Given the description of an element on the screen output the (x, y) to click on. 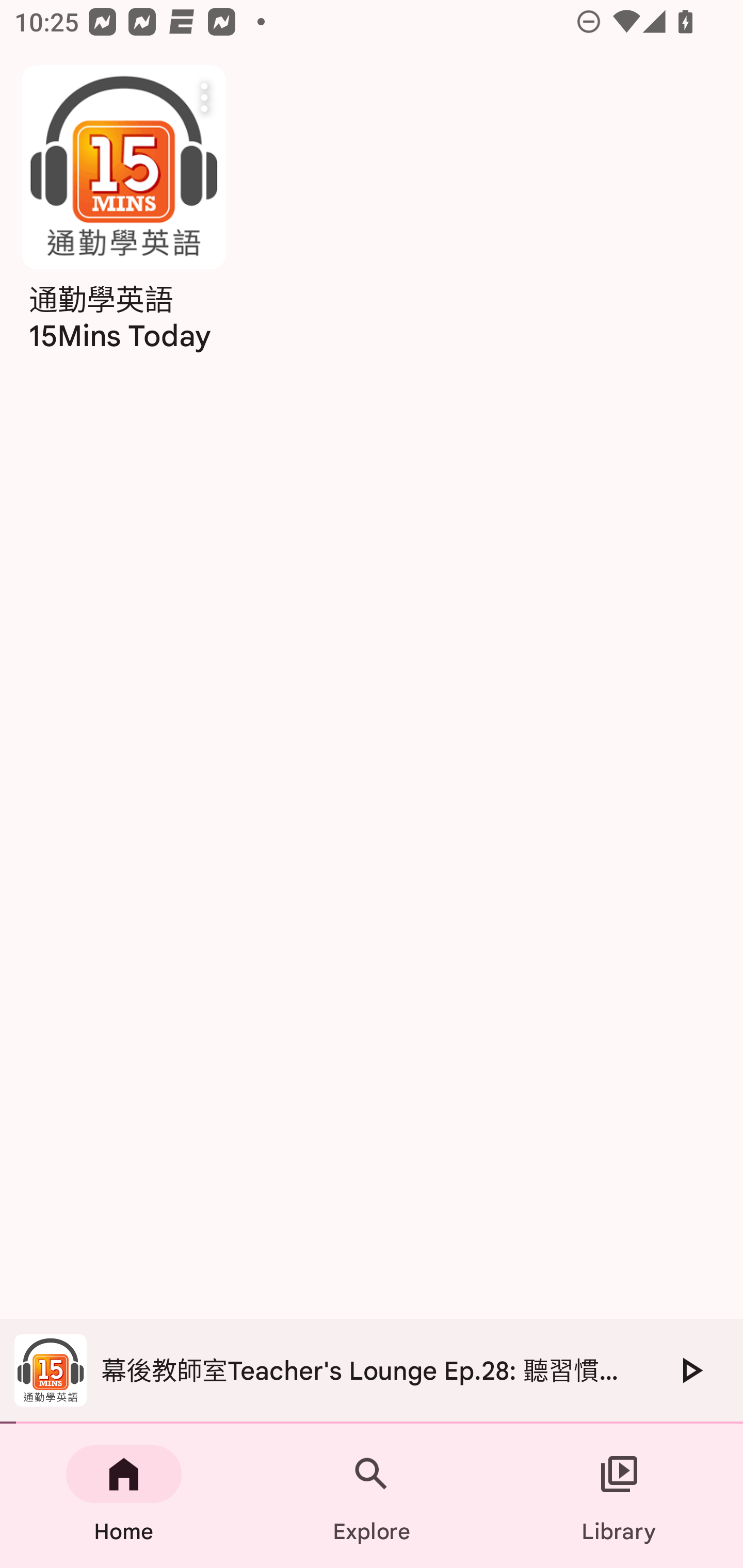
通勤學英語 15Mins Today More actions 通勤學英語 15Mins Today (123, 214)
More actions (203, 97)
Play (690, 1370)
Explore (371, 1495)
Library (619, 1495)
